Given the description of an element on the screen output the (x, y) to click on. 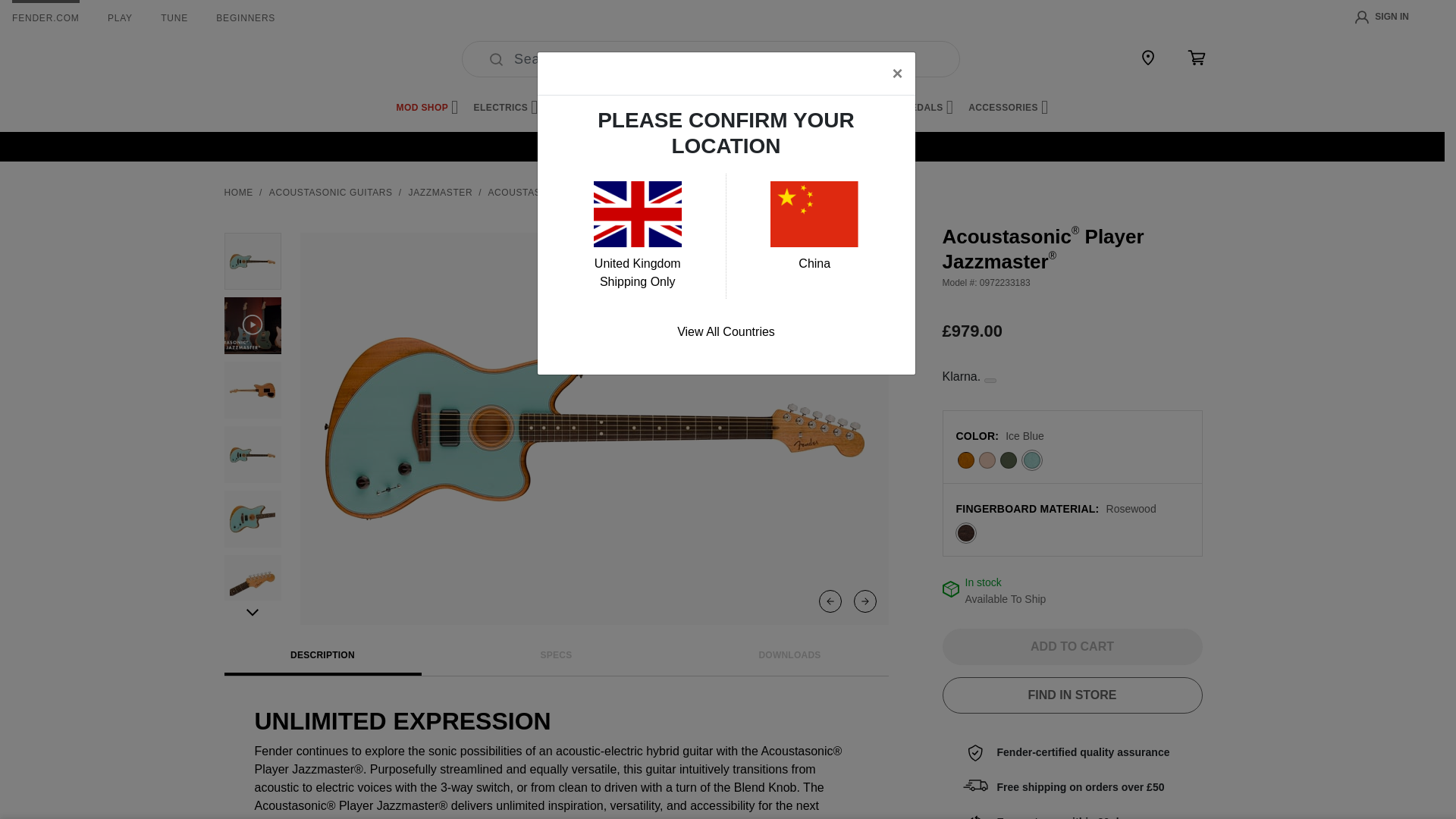
MOD SHOP (427, 107)
SIGN IN (1382, 17)
BEGINNERS (245, 18)
Fender Home (261, 58)
PLAY (119, 18)
FENDER.COM (45, 18)
ELECTRICS (506, 107)
TUNE (173, 18)
